Given the description of an element on the screen output the (x, y) to click on. 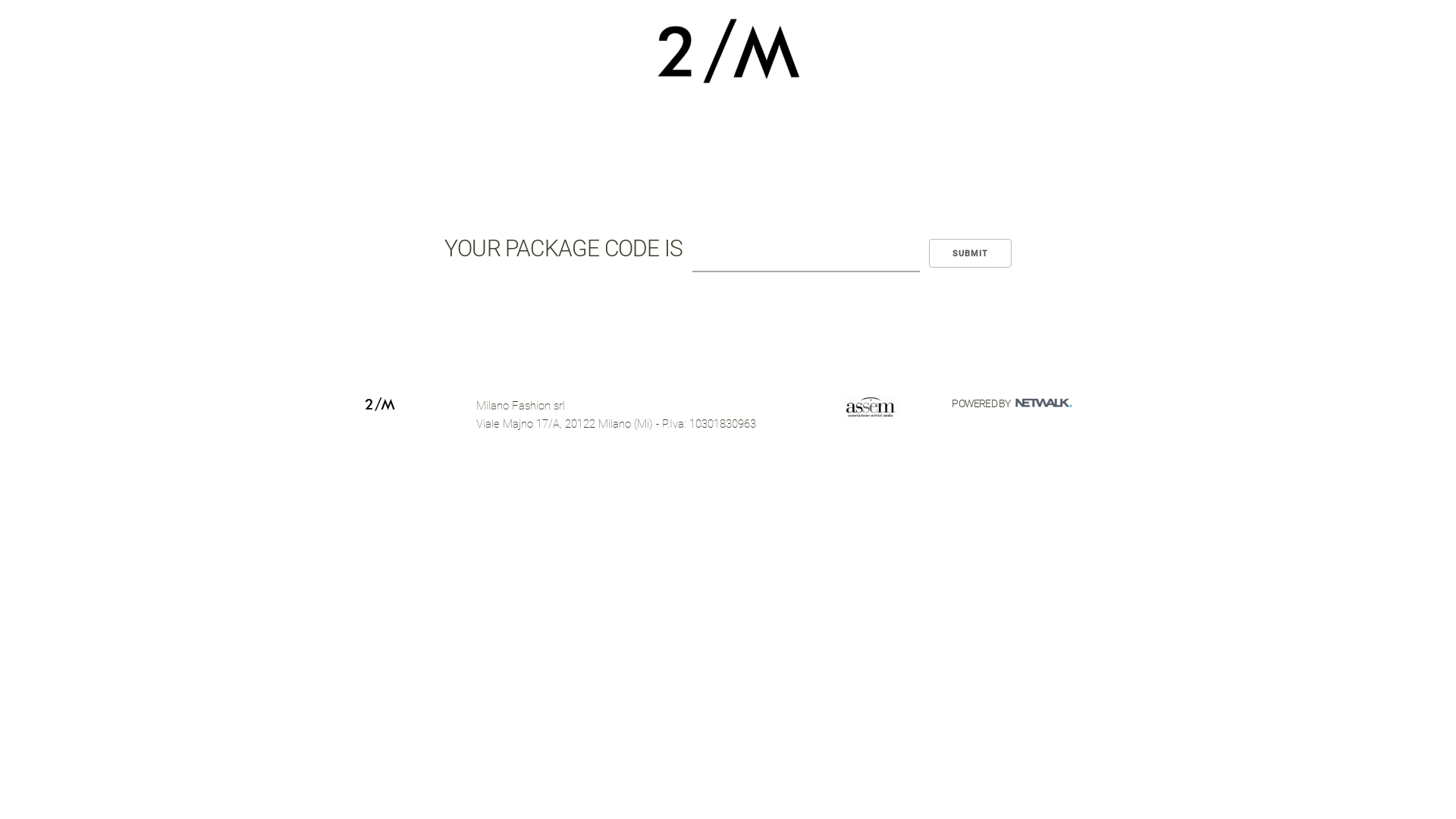
SUBMIT Element type: text (969, 252)
